Given the description of an element on the screen output the (x, y) to click on. 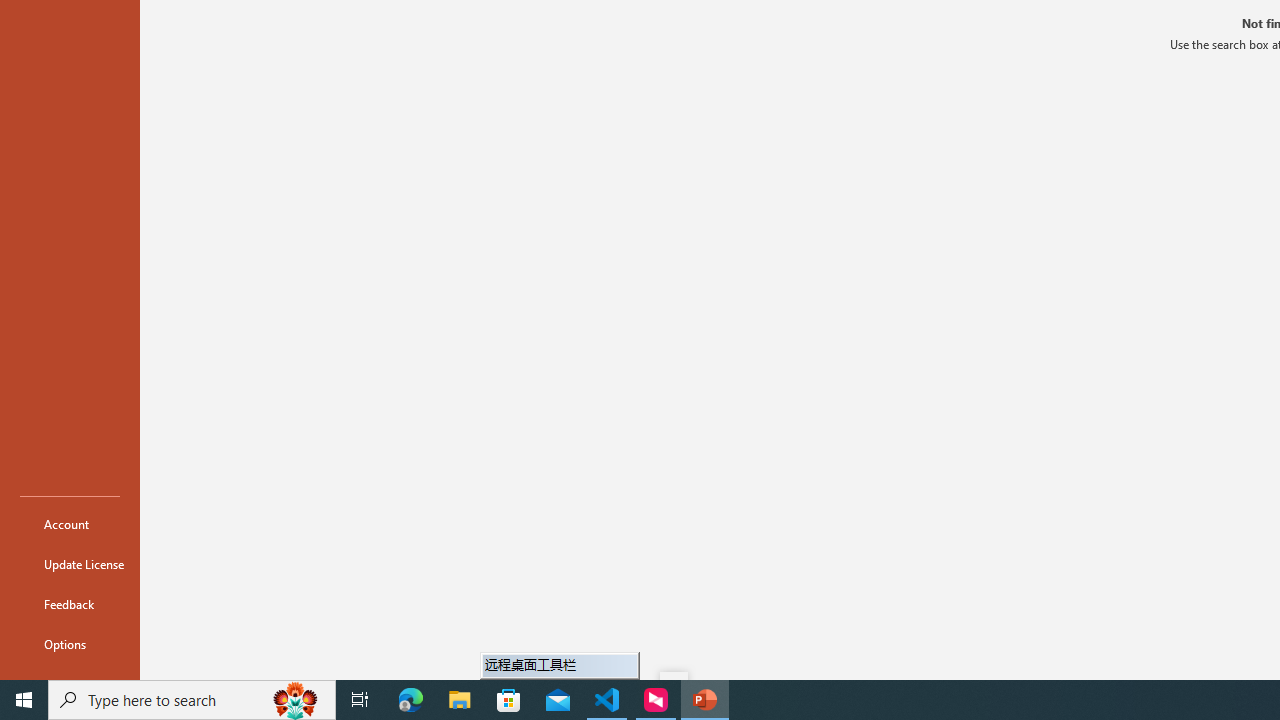
Account (69, 523)
Update License (69, 563)
Feedback (69, 603)
Options (69, 643)
